Given the description of an element on the screen output the (x, y) to click on. 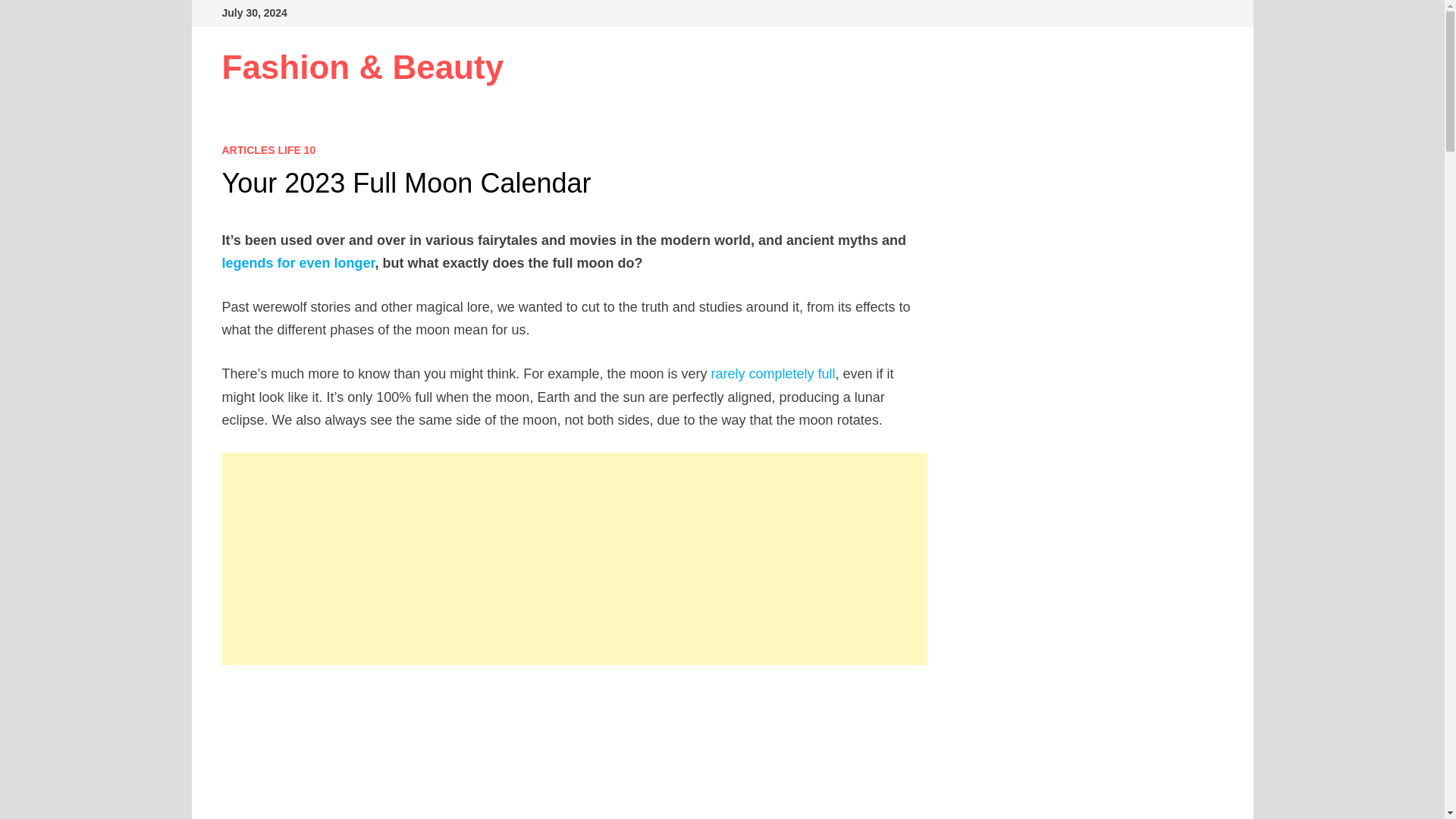
ARTICLES LIFE 10 (268, 150)
rarely completely full (772, 373)
legends for even longer (297, 263)
